Given the description of an element on the screen output the (x, y) to click on. 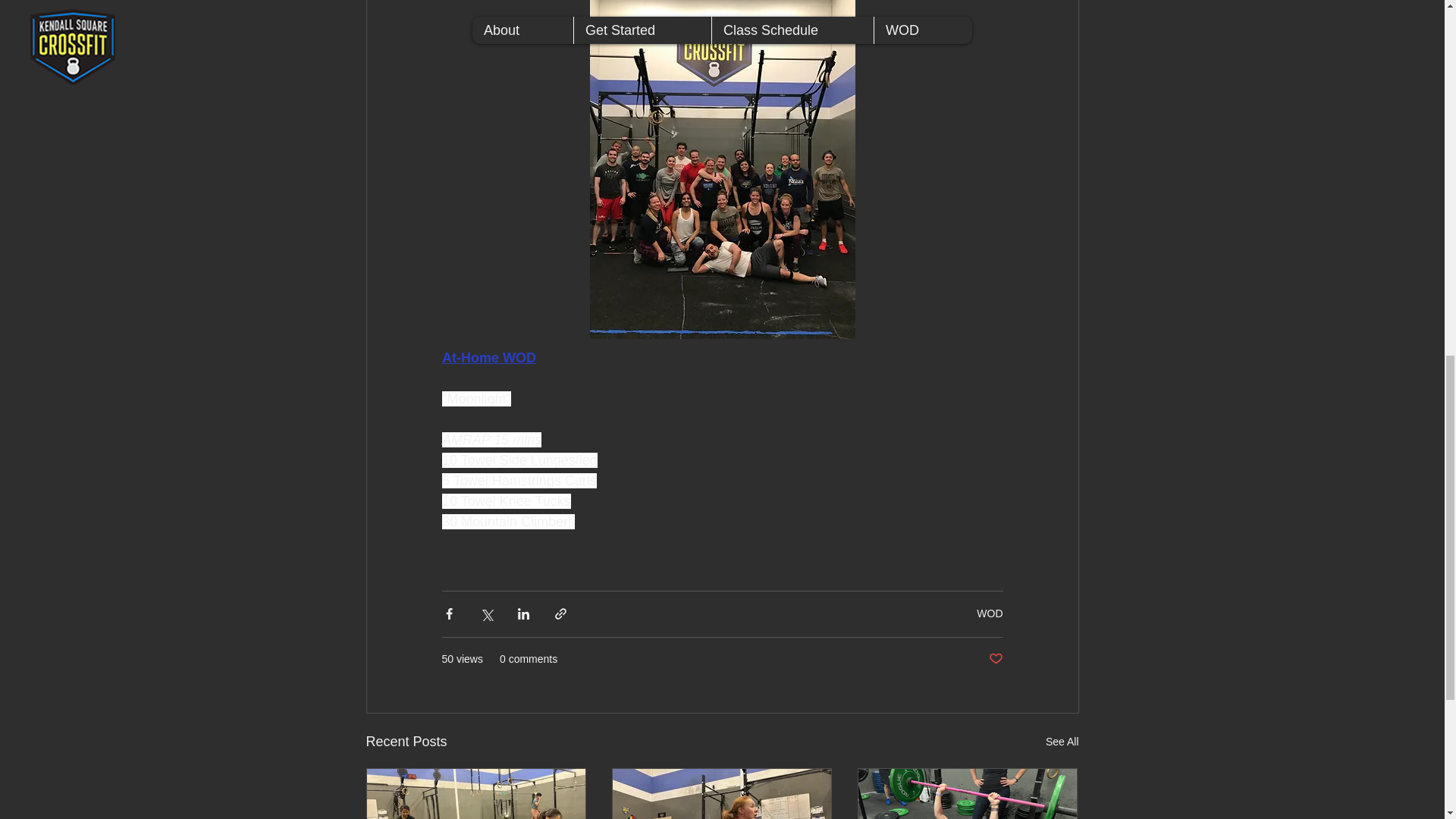
WOD (989, 613)
Post not marked as liked (995, 659)
See All (1061, 741)
